Given the description of an element on the screen output the (x, y) to click on. 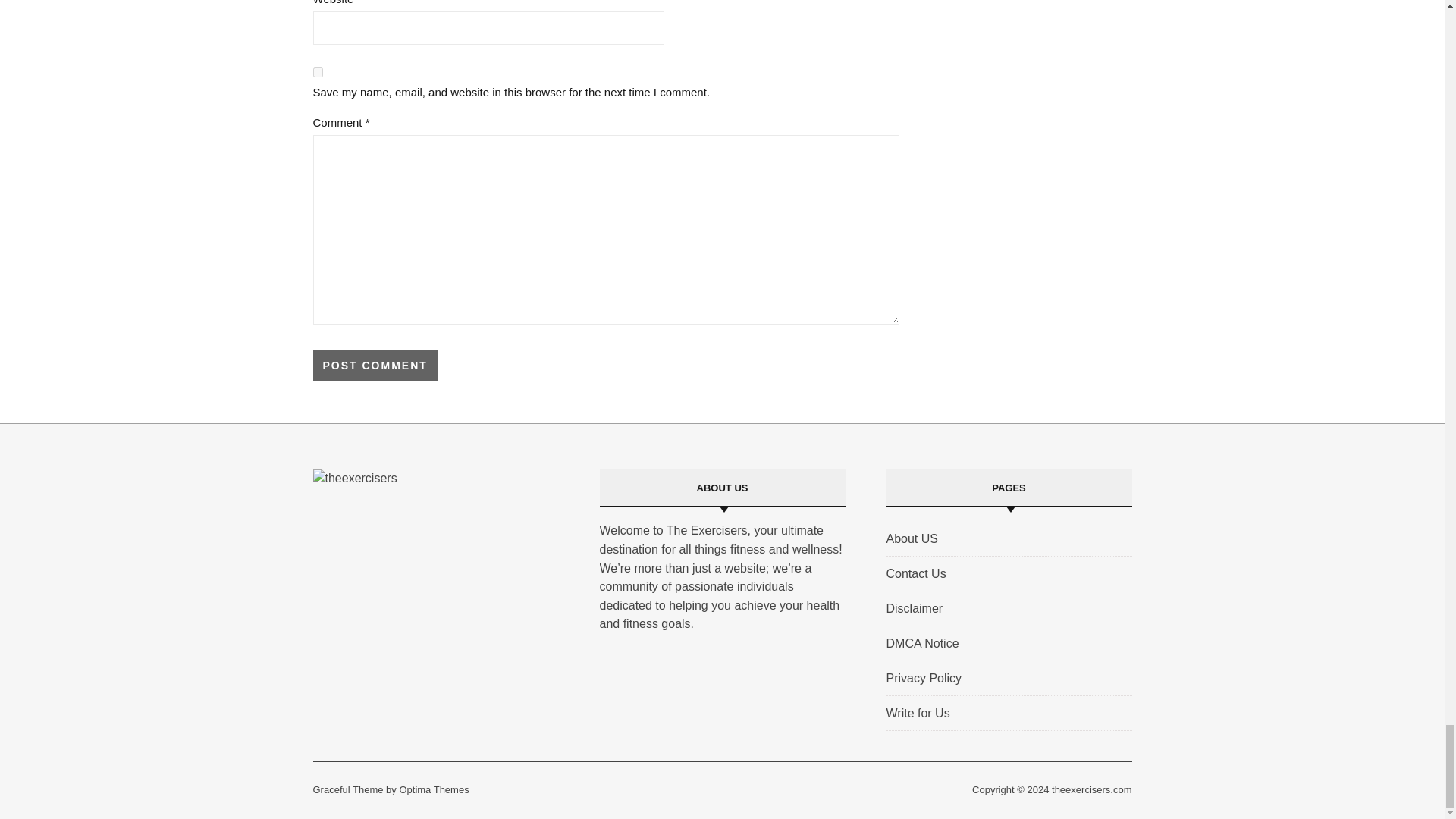
yes (317, 71)
Post Comment (374, 365)
